Given the description of an element on the screen output the (x, y) to click on. 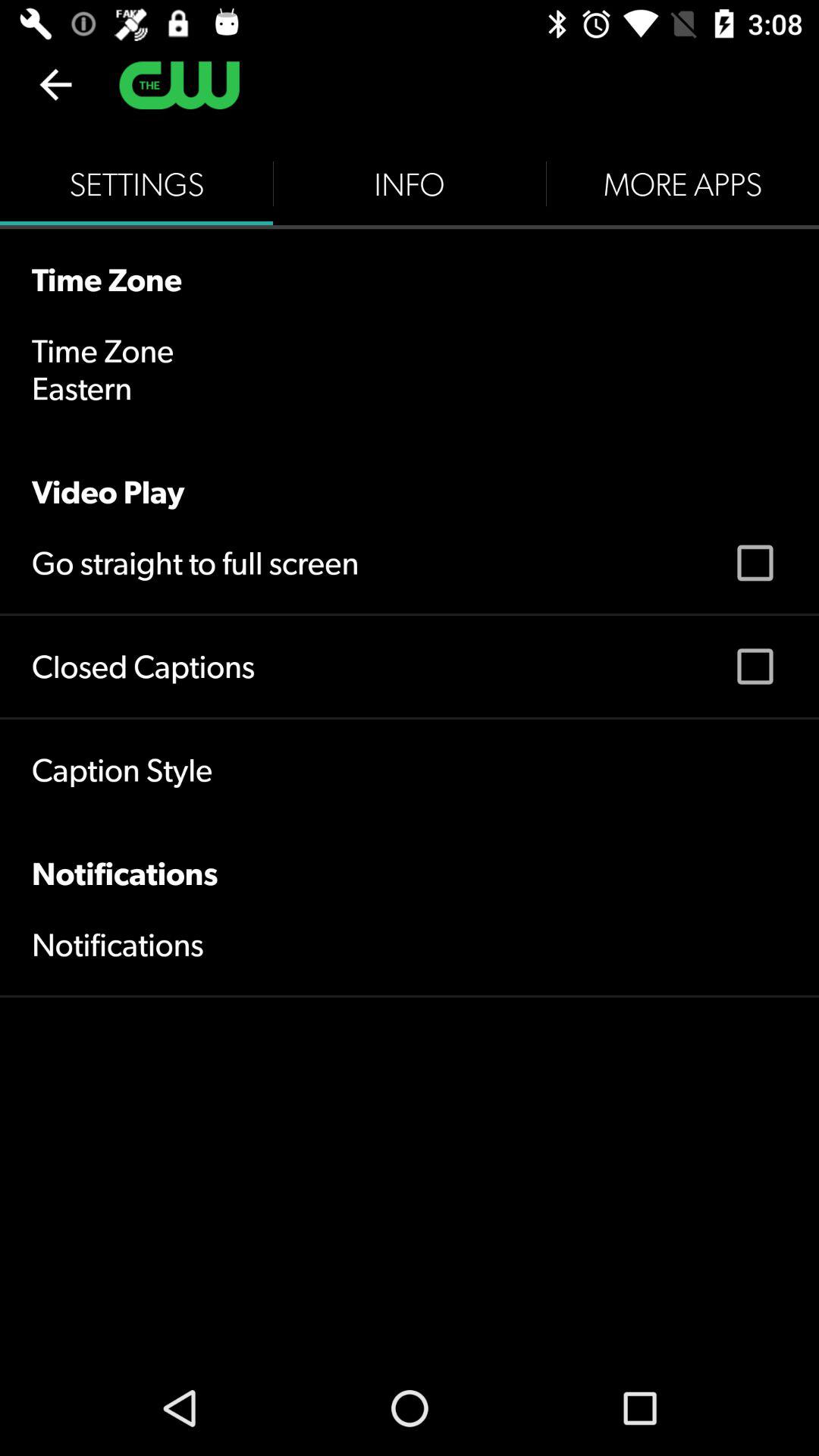
select the item to the left of info icon (136, 184)
